Given the description of an element on the screen output the (x, y) to click on. 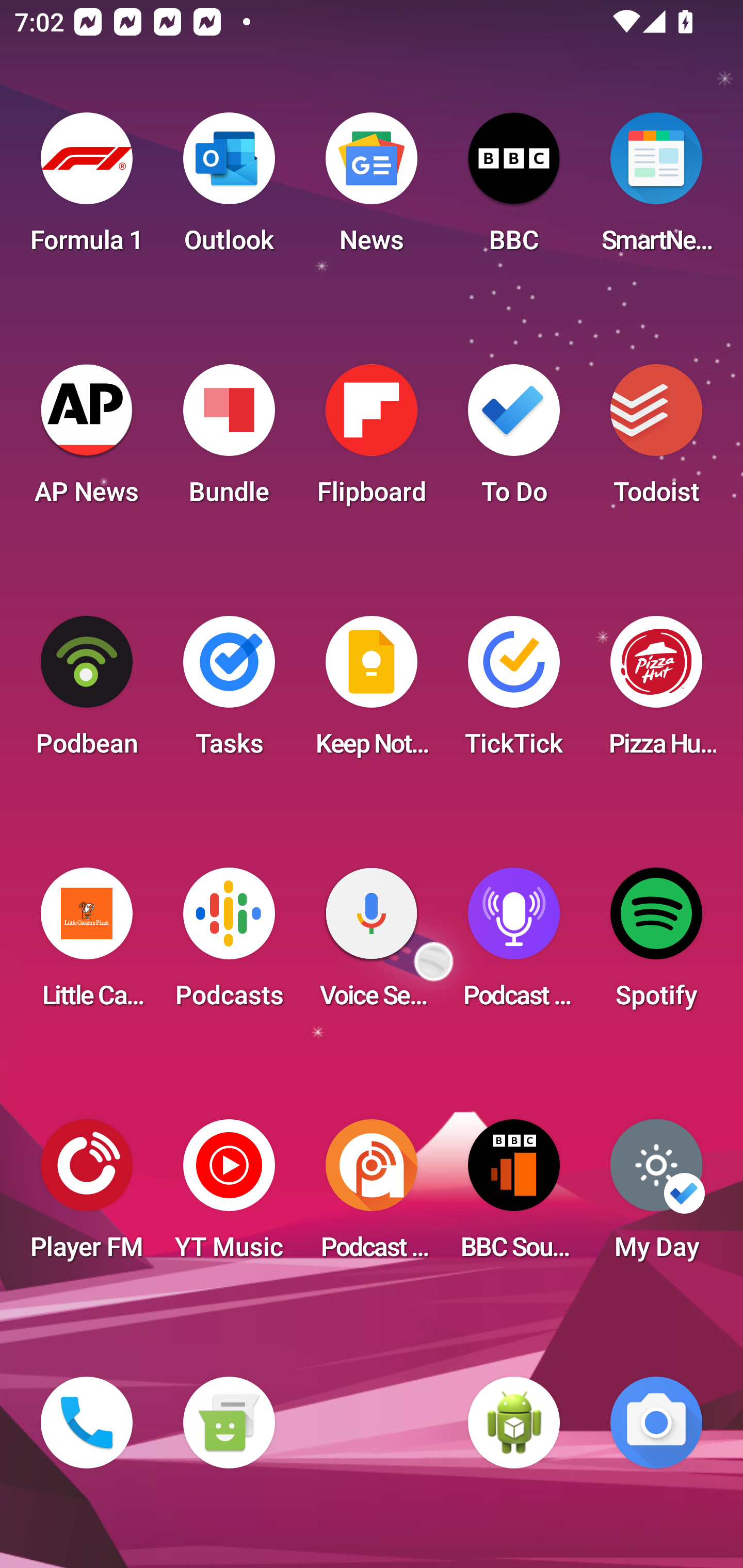
Formula 1 (86, 188)
Outlook (228, 188)
News (371, 188)
BBC (513, 188)
SmartNews (656, 188)
AP News (86, 440)
Bundle (228, 440)
Flipboard (371, 440)
To Do (513, 440)
Todoist (656, 440)
Podbean (86, 692)
Tasks (228, 692)
Keep Notes (371, 692)
TickTick (513, 692)
Pizza Hut HK & Macau (656, 692)
Little Caesars Pizza (86, 943)
Podcasts (228, 943)
Voice Search (371, 943)
Podcast Player (513, 943)
Spotify (656, 943)
Player FM (86, 1195)
YT Music (228, 1195)
Podcast Addict (371, 1195)
BBC Sounds (513, 1195)
My Day (656, 1195)
Phone (86, 1422)
Messaging (228, 1422)
WebView Browser Tester (513, 1422)
Camera (656, 1422)
